Given the description of an element on the screen output the (x, y) to click on. 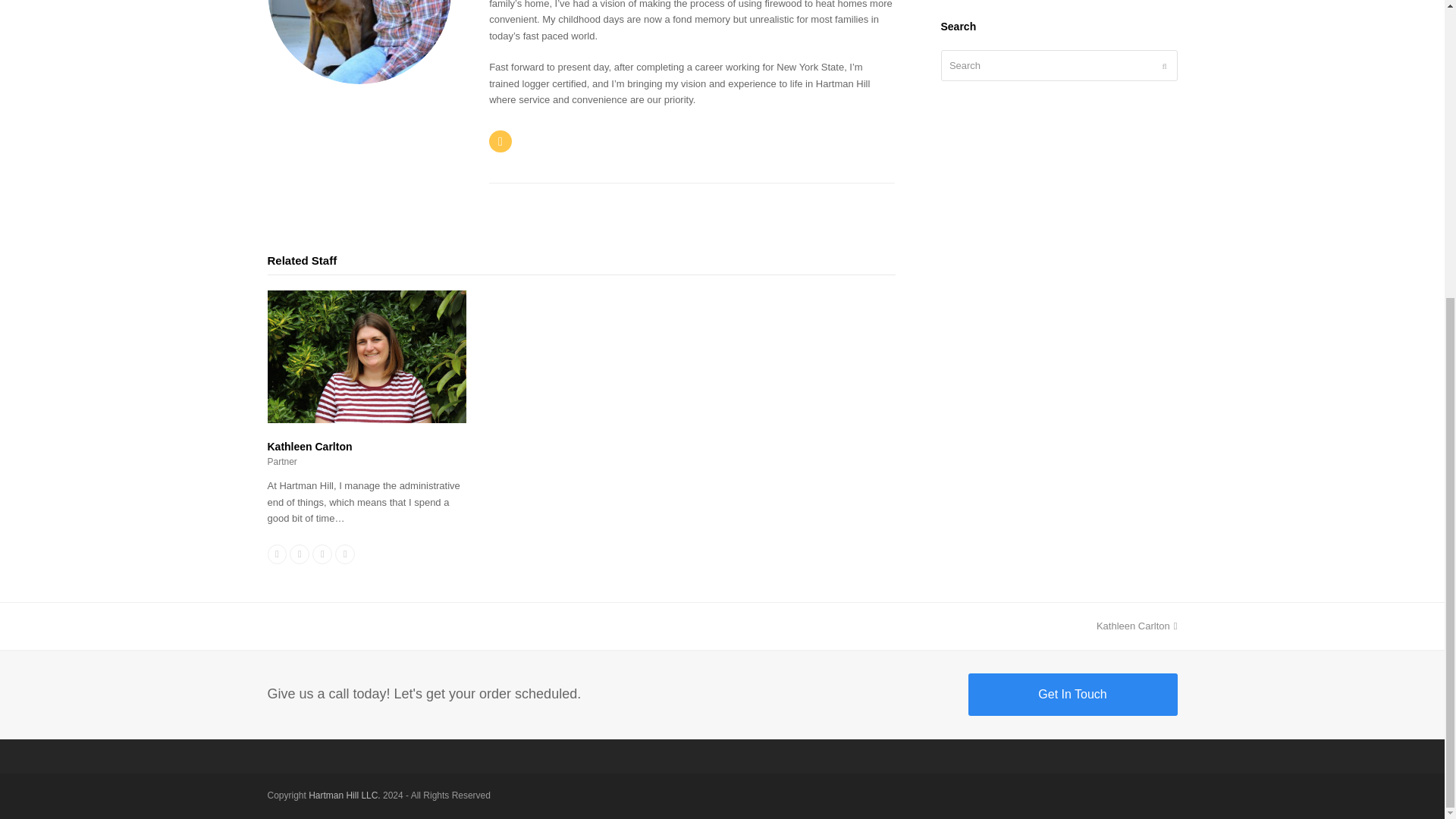
Hartman Hill LLC. (344, 795)
Phone Number (298, 554)
Website (344, 554)
Facebook (276, 554)
Kathleen Carlton (365, 419)
Kathleen Carlton (1136, 625)
Get In Touch (309, 446)
Email (1072, 694)
Email (322, 554)
